Given the description of an element on the screen output the (x, y) to click on. 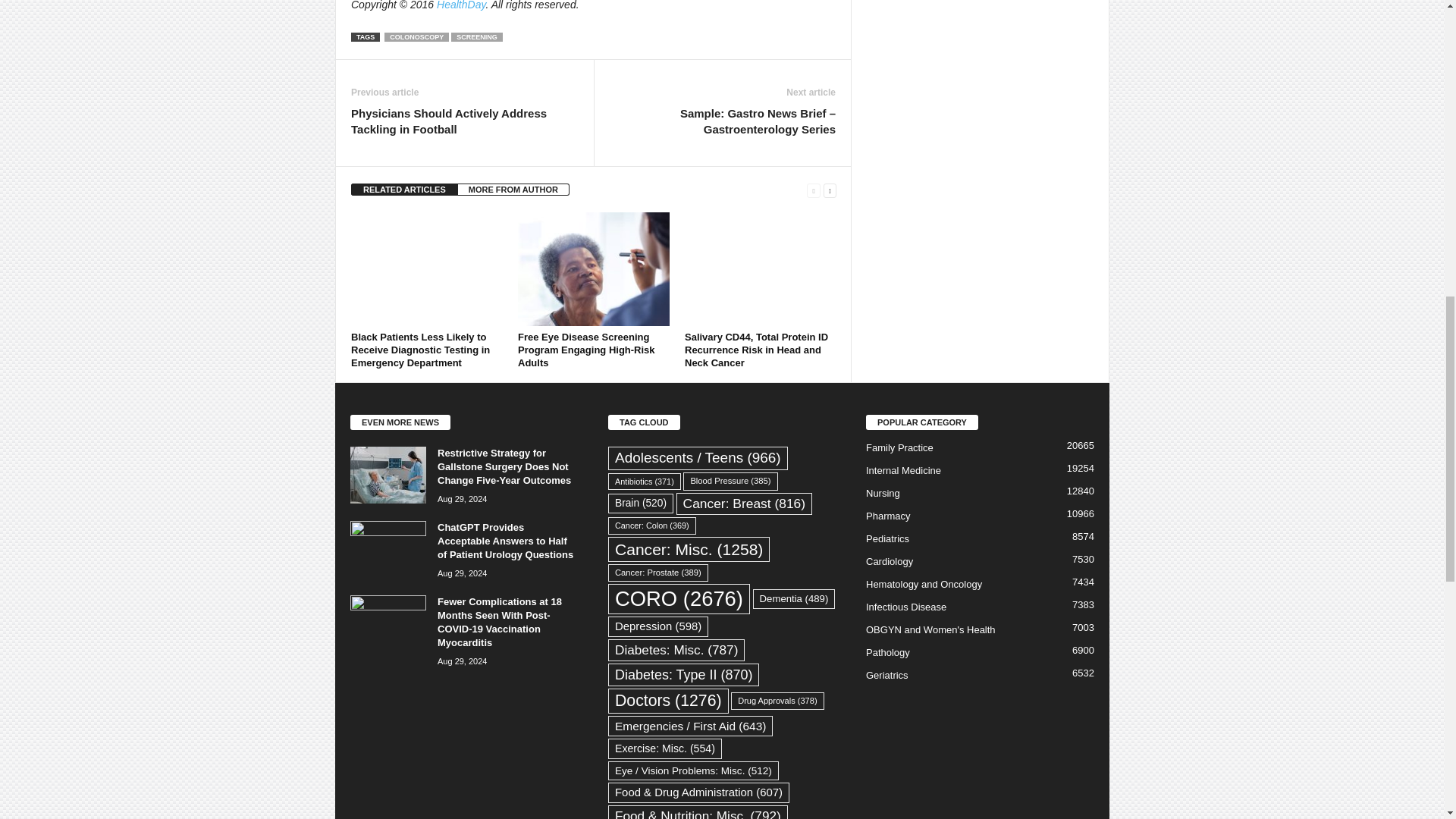
Free Eye Disease Screening Program Engaging High-Risk Adults (593, 268)
Free Eye Disease Screening Program Engaging High-Risk Adults (586, 349)
